Given the description of an element on the screen output the (x, y) to click on. 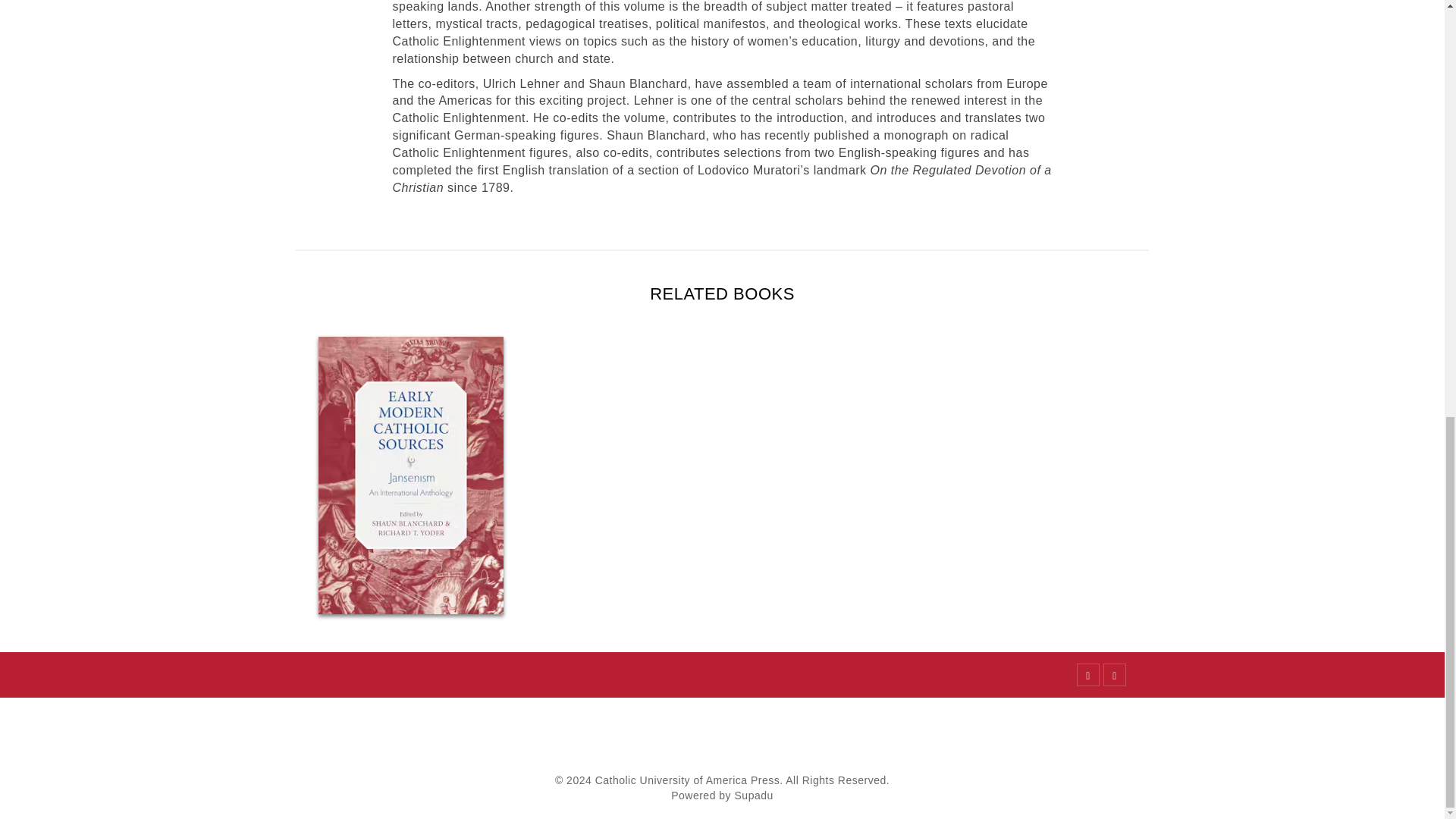
Follow us on Facebook (1088, 674)
